Given the description of an element on the screen output the (x, y) to click on. 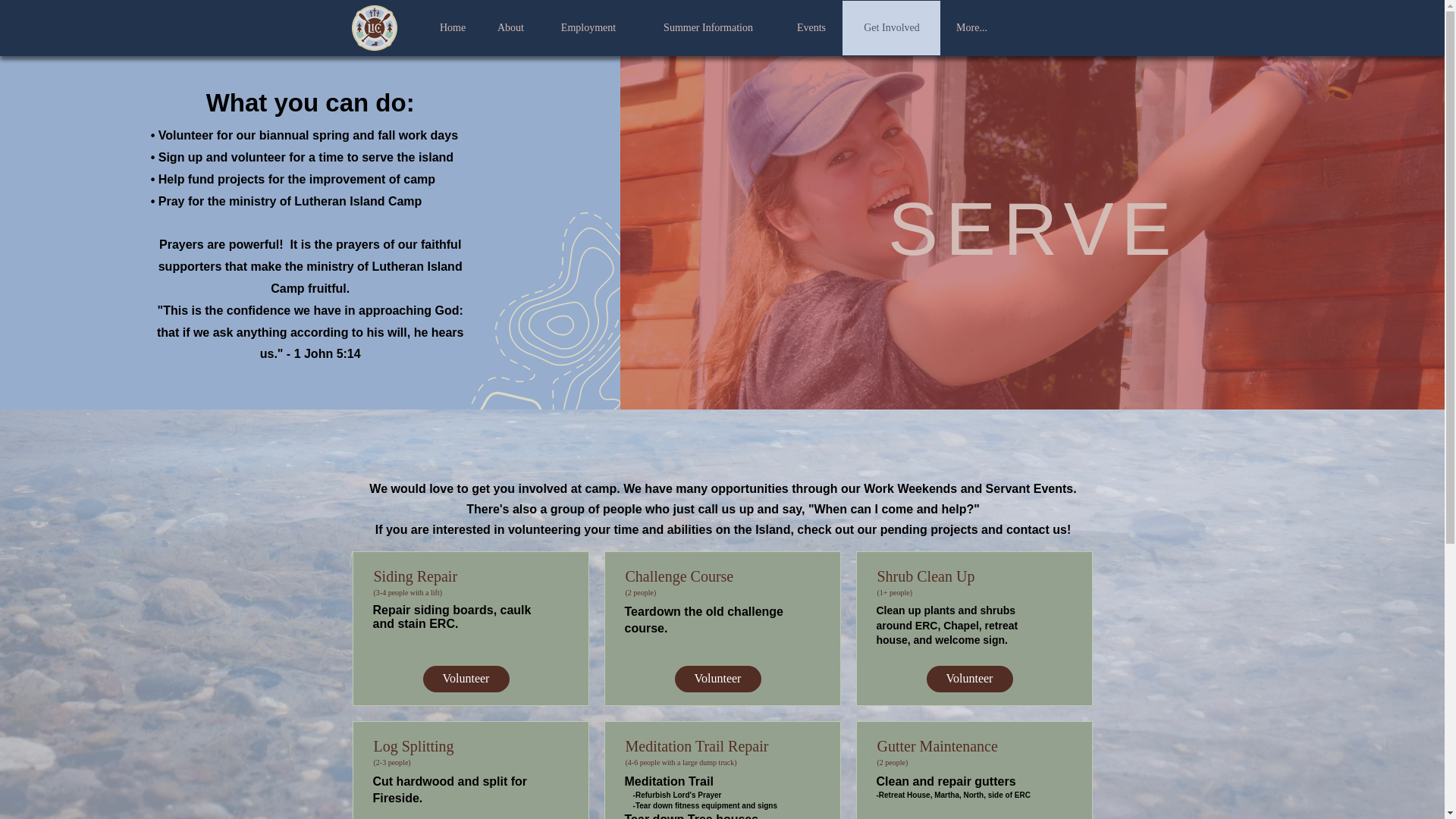
About (510, 27)
Volunteer (466, 678)
Summer Information (707, 27)
Volunteer (969, 678)
Employment (588, 27)
Volunteer (718, 678)
Home (451, 27)
Get Involved (891, 27)
Events (810, 27)
